Given the description of an element on the screen output the (x, y) to click on. 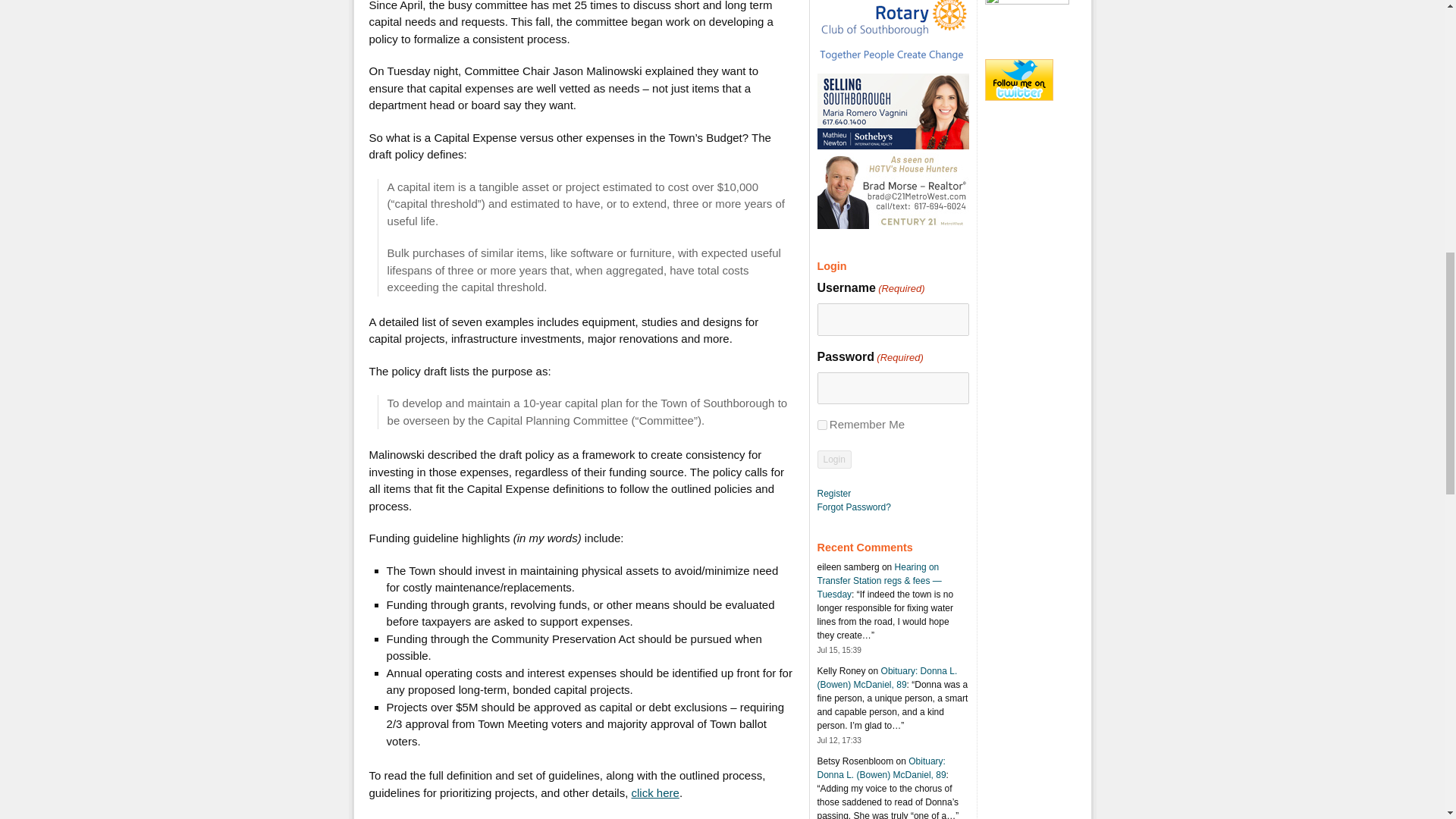
1 (821, 424)
Login (833, 459)
